Given the description of an element on the screen output the (x, y) to click on. 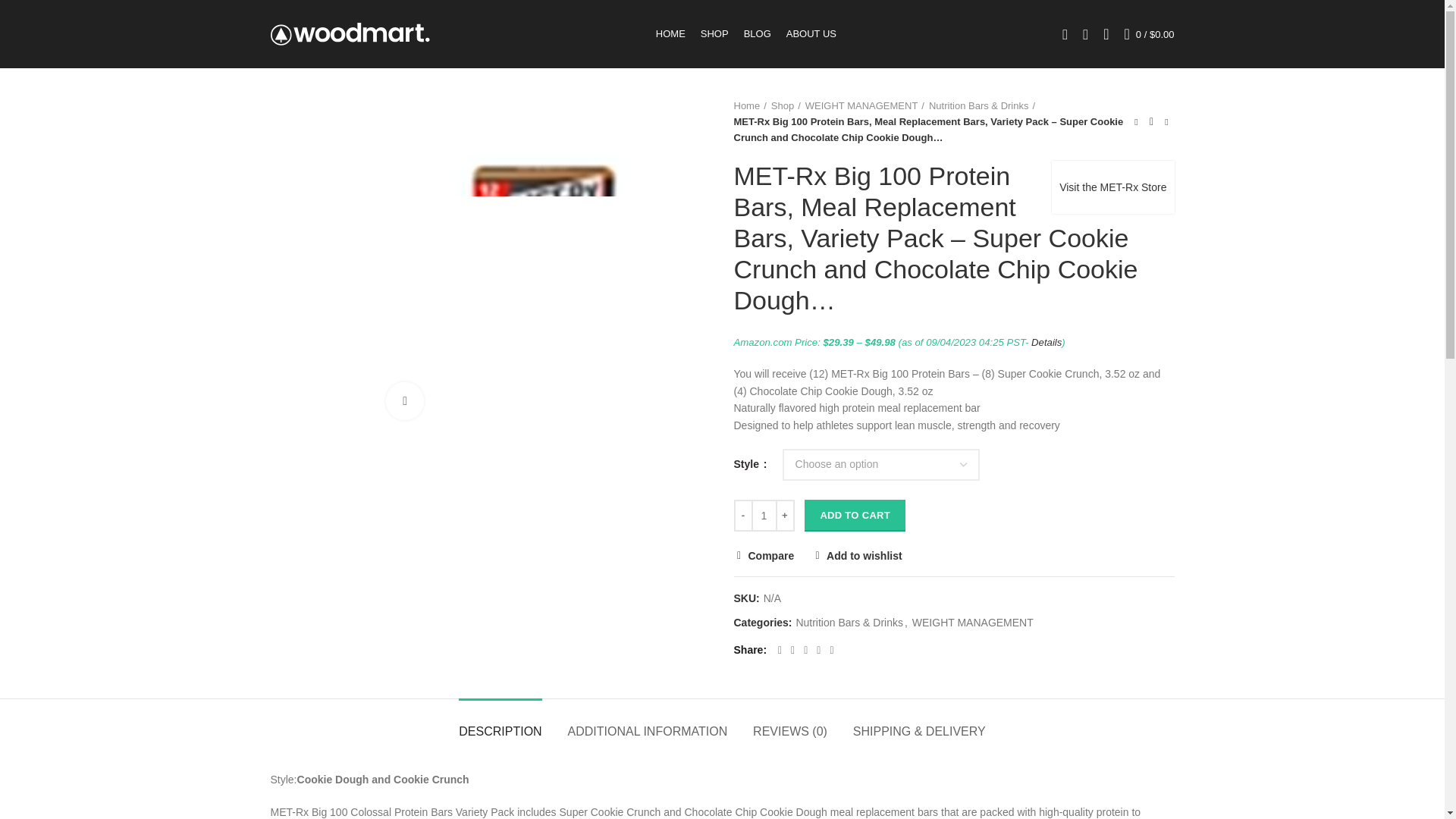
Add to wishlist (857, 555)
Home (750, 106)
SHOP (714, 33)
Next product (1165, 121)
WEIGHT MANAGEMENT (864, 106)
HOME (670, 33)
Shopping cart (1149, 33)
Visit the MET-Rx Store (1112, 186)
Shop (785, 106)
Previous product (1135, 121)
ABOUT US (811, 33)
ADD TO CART (855, 515)
Compare (763, 555)
BLOG (757, 33)
